Given the description of an element on the screen output the (x, y) to click on. 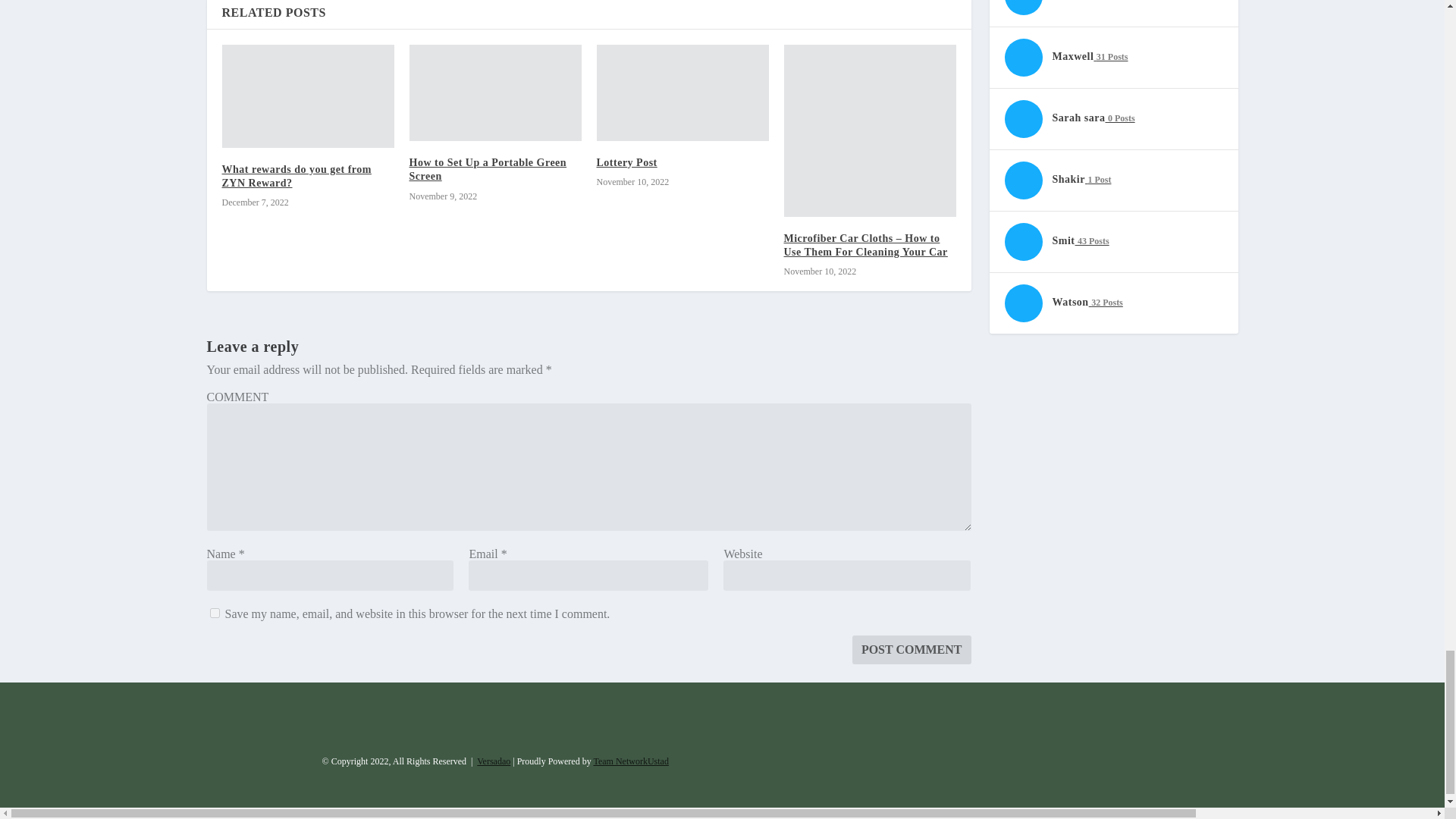
yes (214, 613)
Post Comment (911, 649)
